Given the description of an element on the screen output the (x, y) to click on. 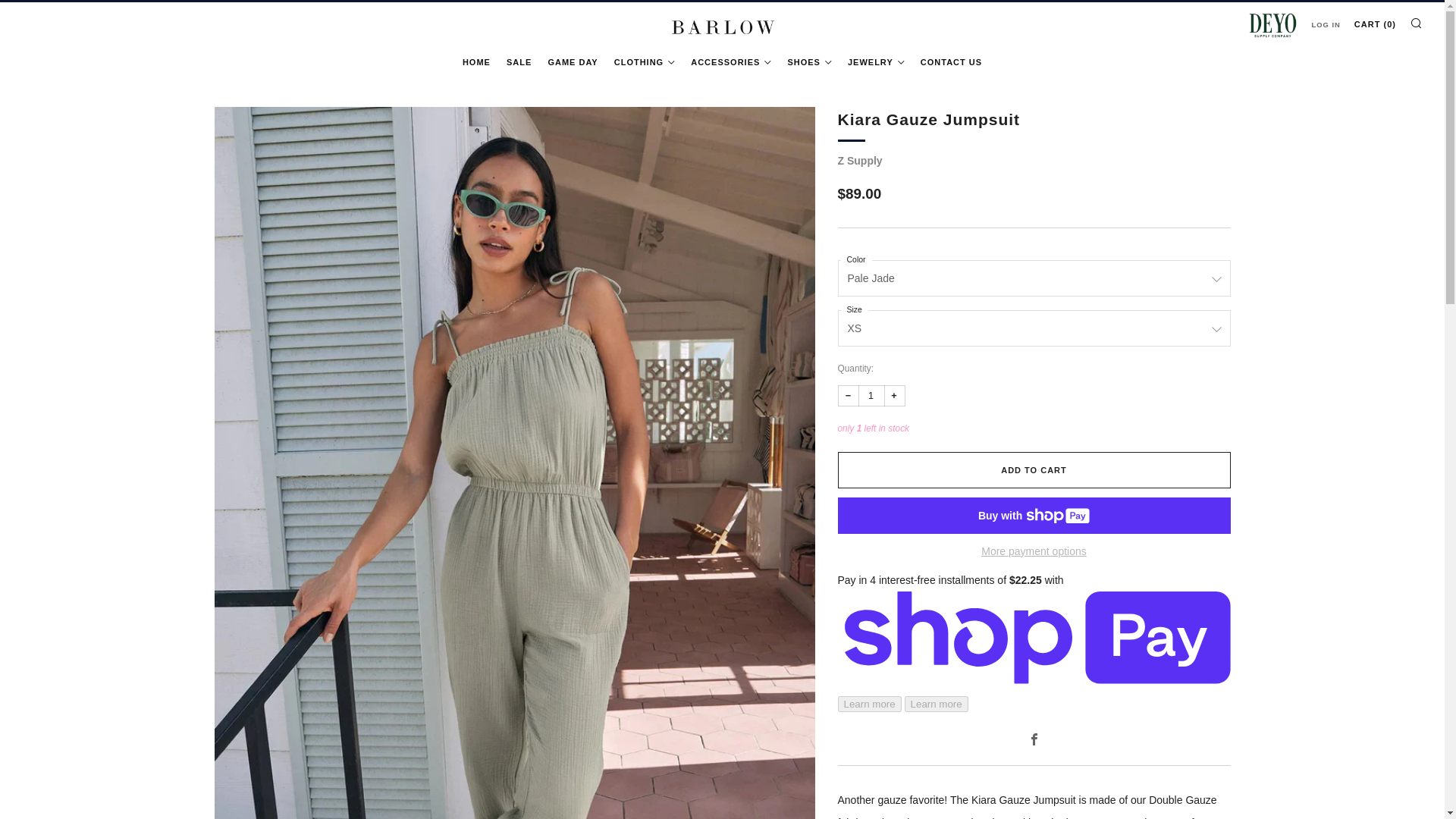
1 (872, 395)
Z Supply (859, 160)
